Given the description of an element on the screen output the (x, y) to click on. 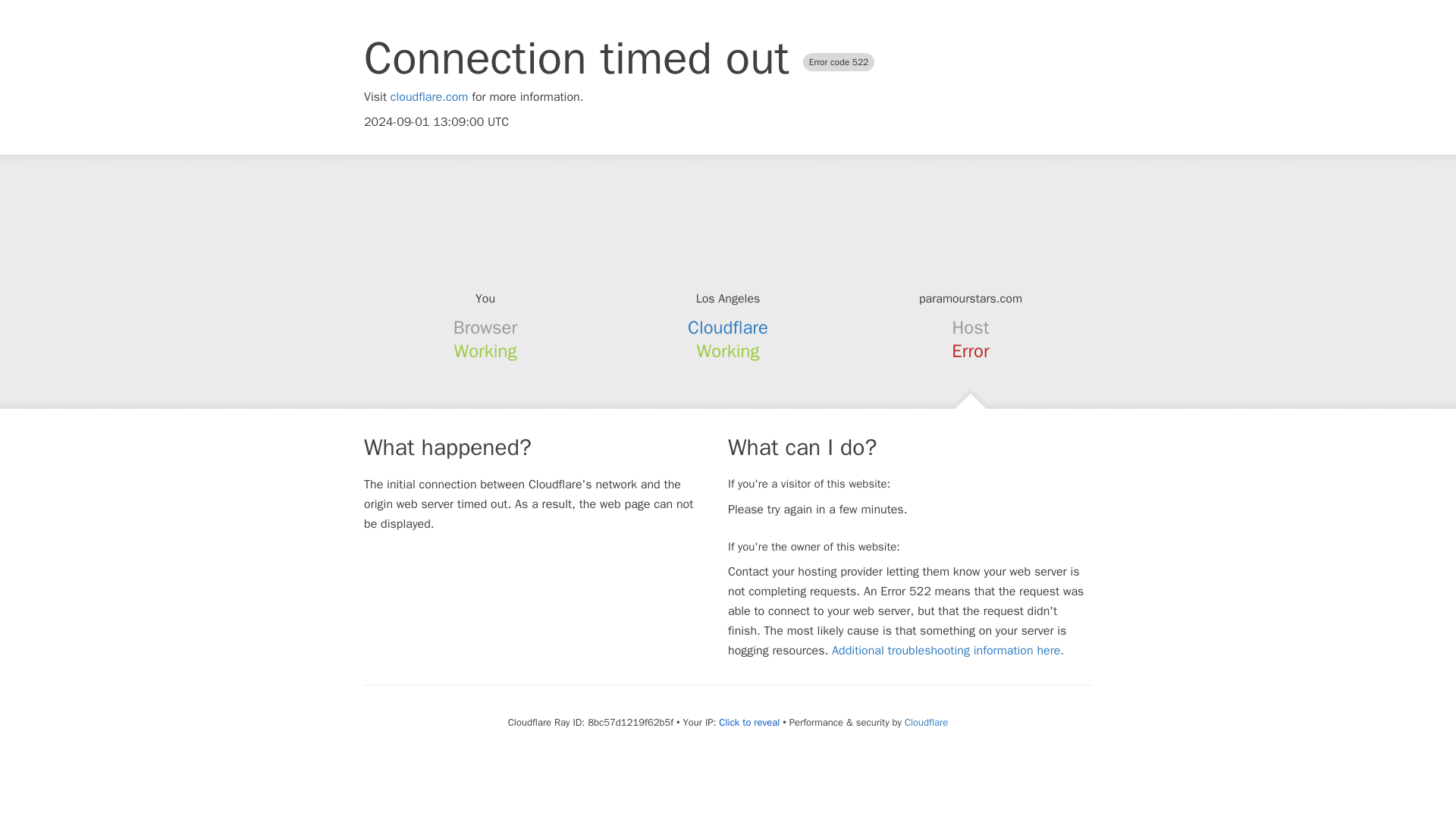
Click to reveal (748, 722)
Additional troubleshooting information here. (947, 650)
Cloudflare (925, 721)
cloudflare.com (429, 96)
Cloudflare (727, 327)
